Given the description of an element on the screen output the (x, y) to click on. 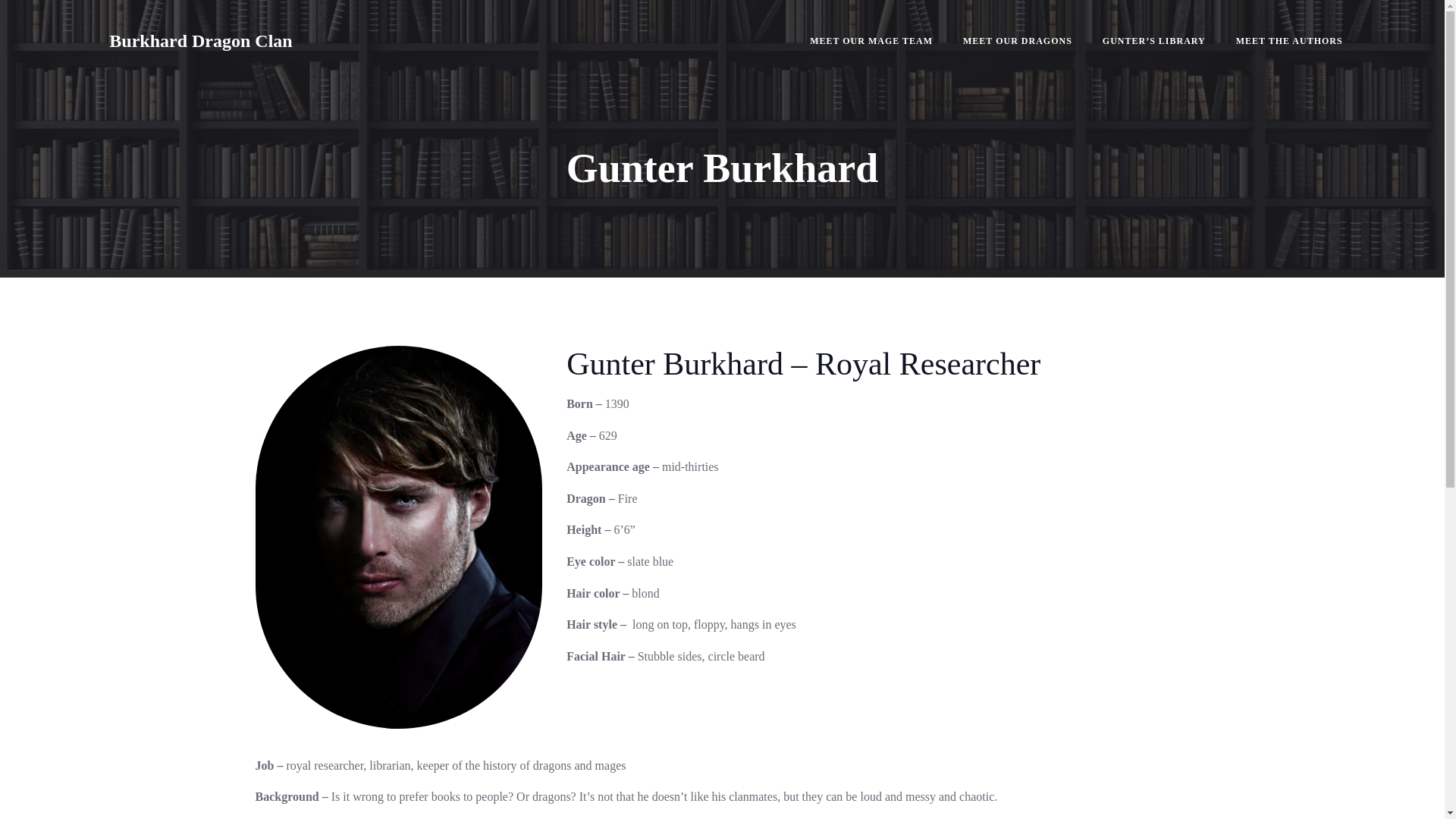
MEET OUR DRAGONS (1016, 40)
Burkhard Dragon Clan (200, 40)
MEET OUR MAGE TEAM (871, 40)
MEET THE AUTHORS (1289, 40)
